Given the description of an element on the screen output the (x, y) to click on. 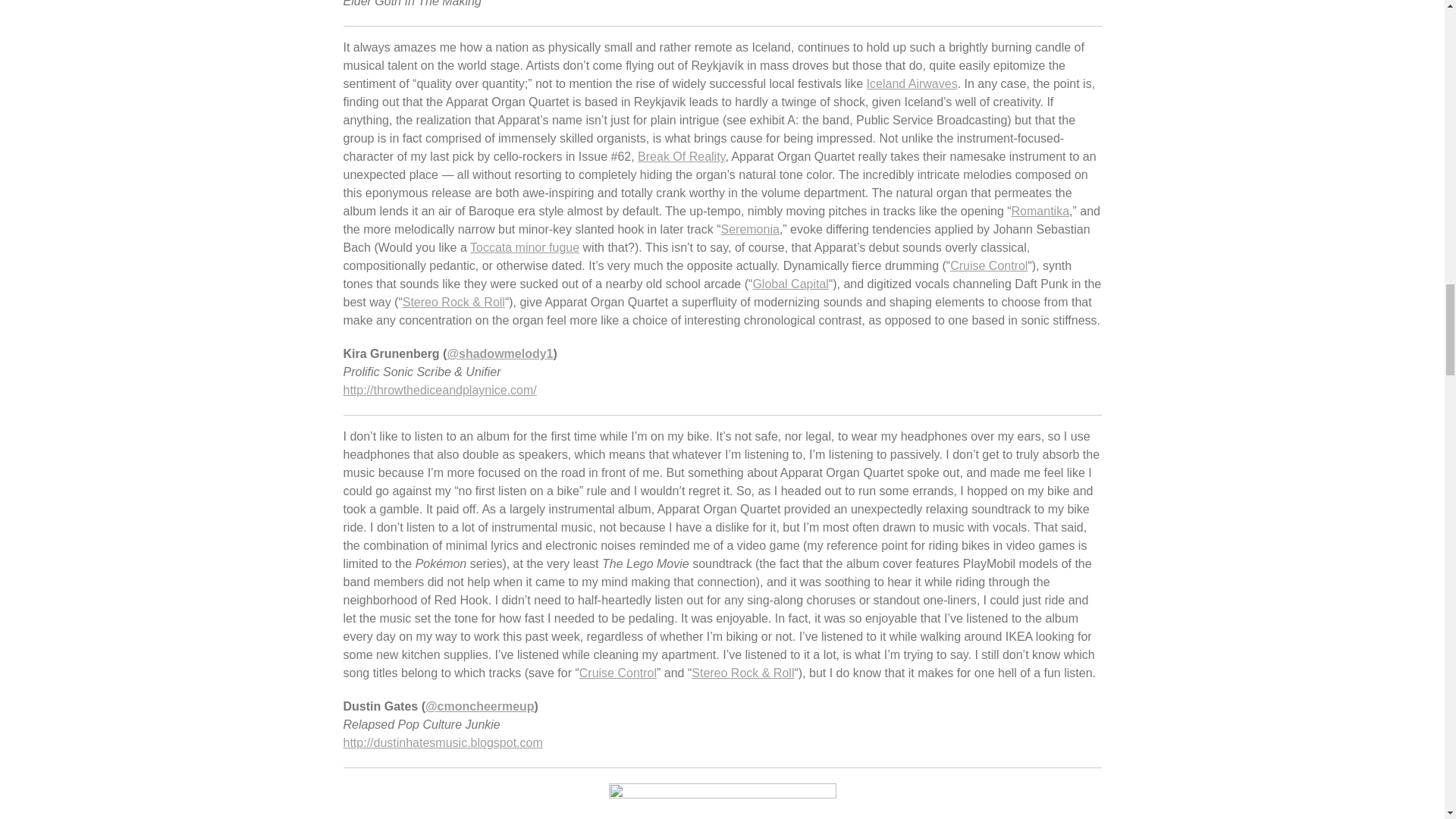
Romantika (1039, 210)
Break Of Reality (681, 155)
Iceland Airwaves (912, 83)
Seremonia (749, 228)
Cruise Control (988, 265)
Toccata minor fugue (524, 246)
